Given the description of an element on the screen output the (x, y) to click on. 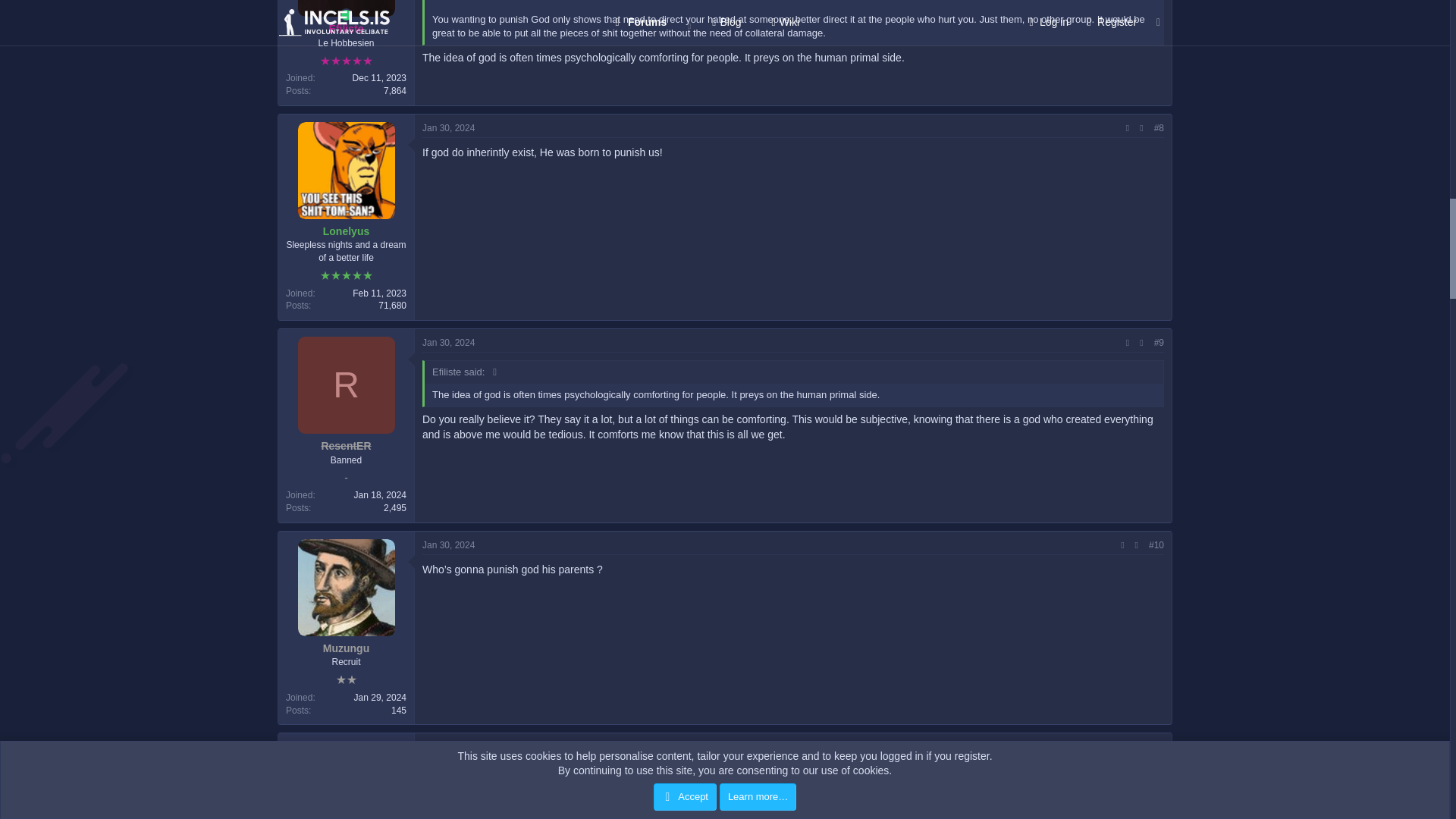
Online now (346, 14)
Jan 30, 2024 at 12:06 AM (448, 127)
Jan 30, 2024 at 12:09 AM (448, 544)
Jan 30, 2024 at 12:07 AM (448, 342)
